Given the description of an element on the screen output the (x, y) to click on. 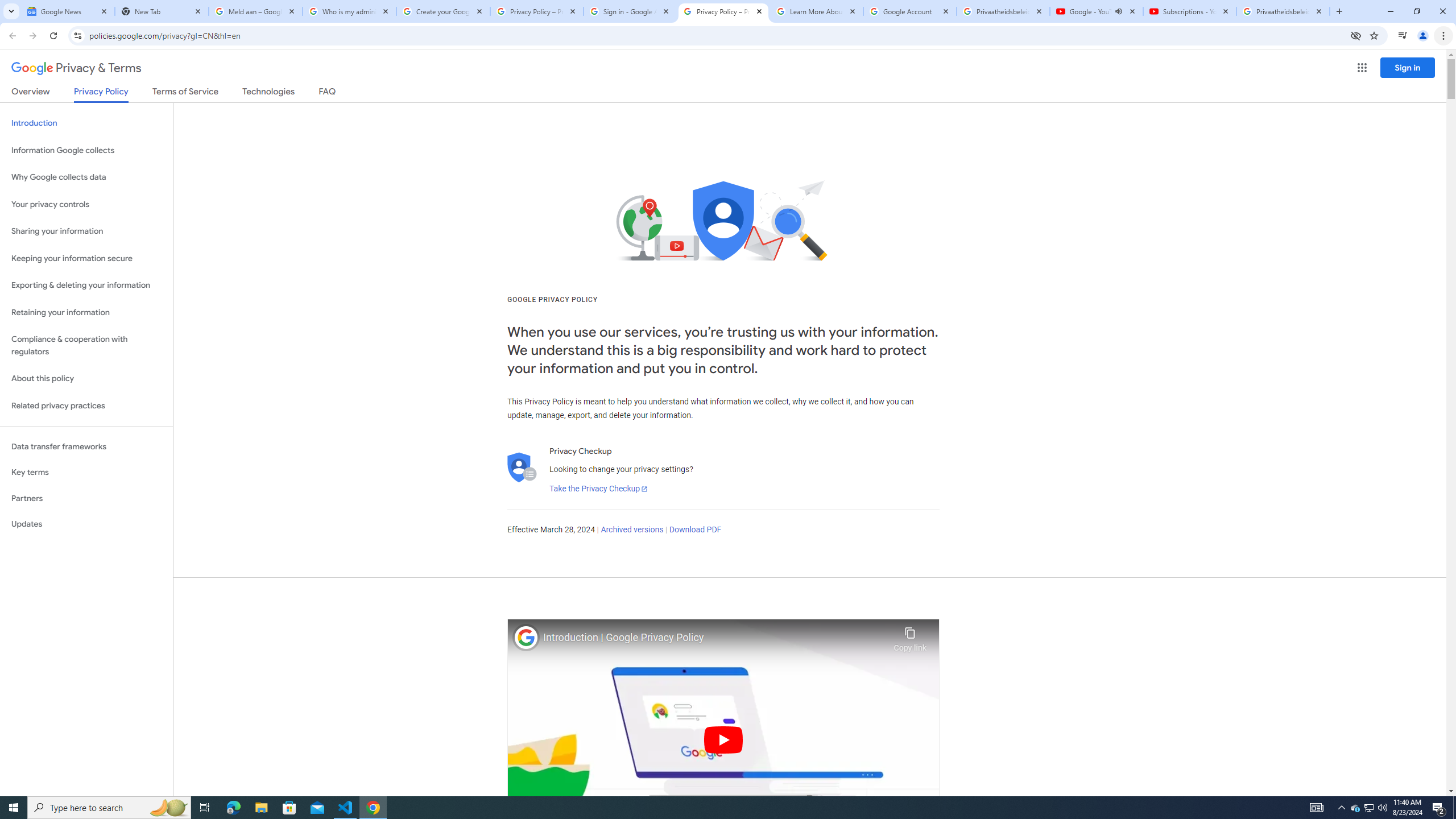
Introduction | Google Privacy Policy (715, 637)
Take the Privacy Checkup (597, 488)
Why Google collects data (86, 176)
Google News (67, 11)
Subscriptions - YouTube (1189, 11)
